Given the description of an element on the screen output the (x, y) to click on. 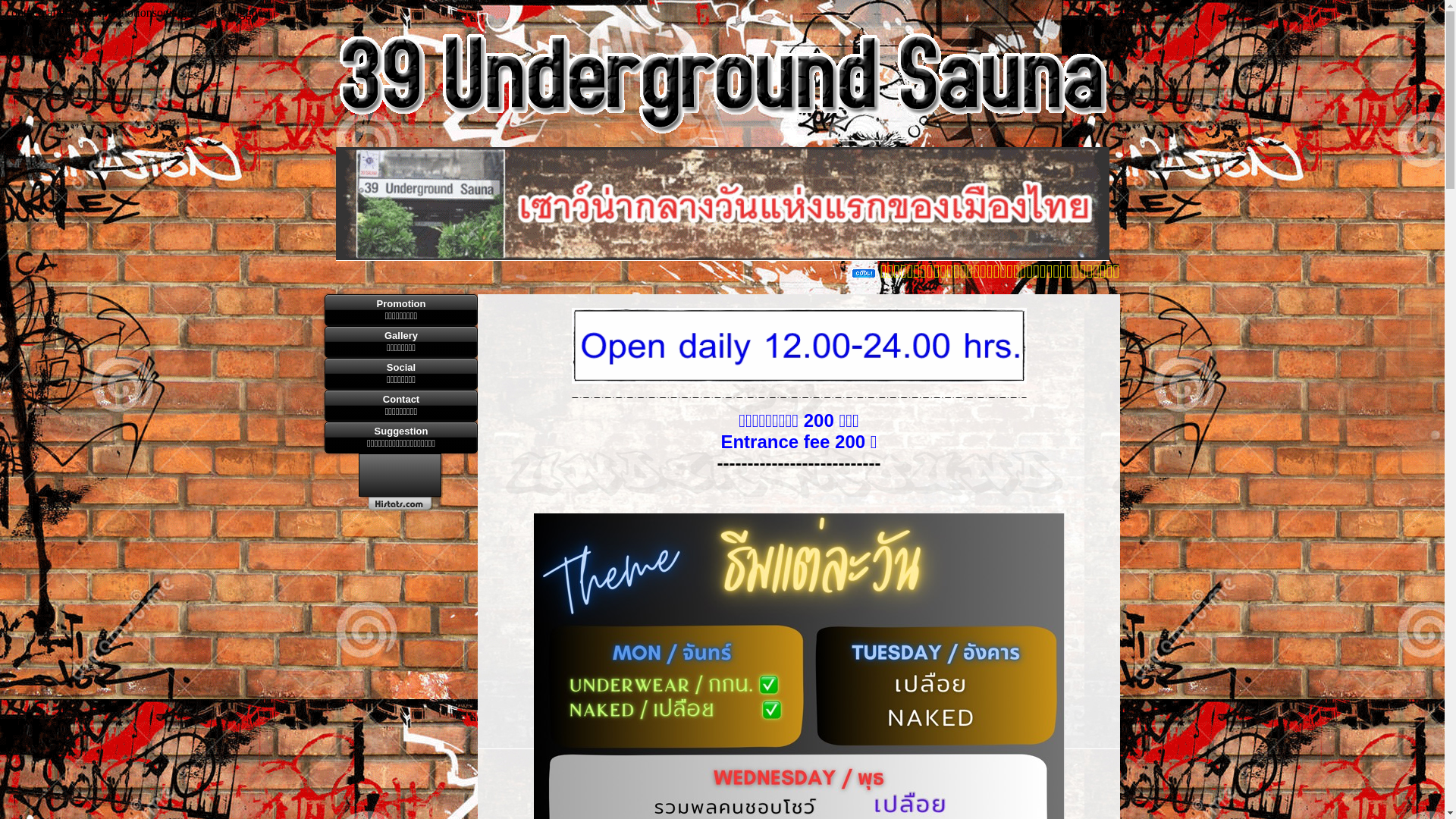
contact Element type: text (23, 12)
sugguest Element type: text (249, 12)
index Element type: text (88, 12)
socialguy_view Element type: text (190, 12)
gallery Element type: text (57, 12)
promotion Element type: text (126, 12)
counter easy hit Element type: hover (400, 482)
